Given the description of an element on the screen output the (x, y) to click on. 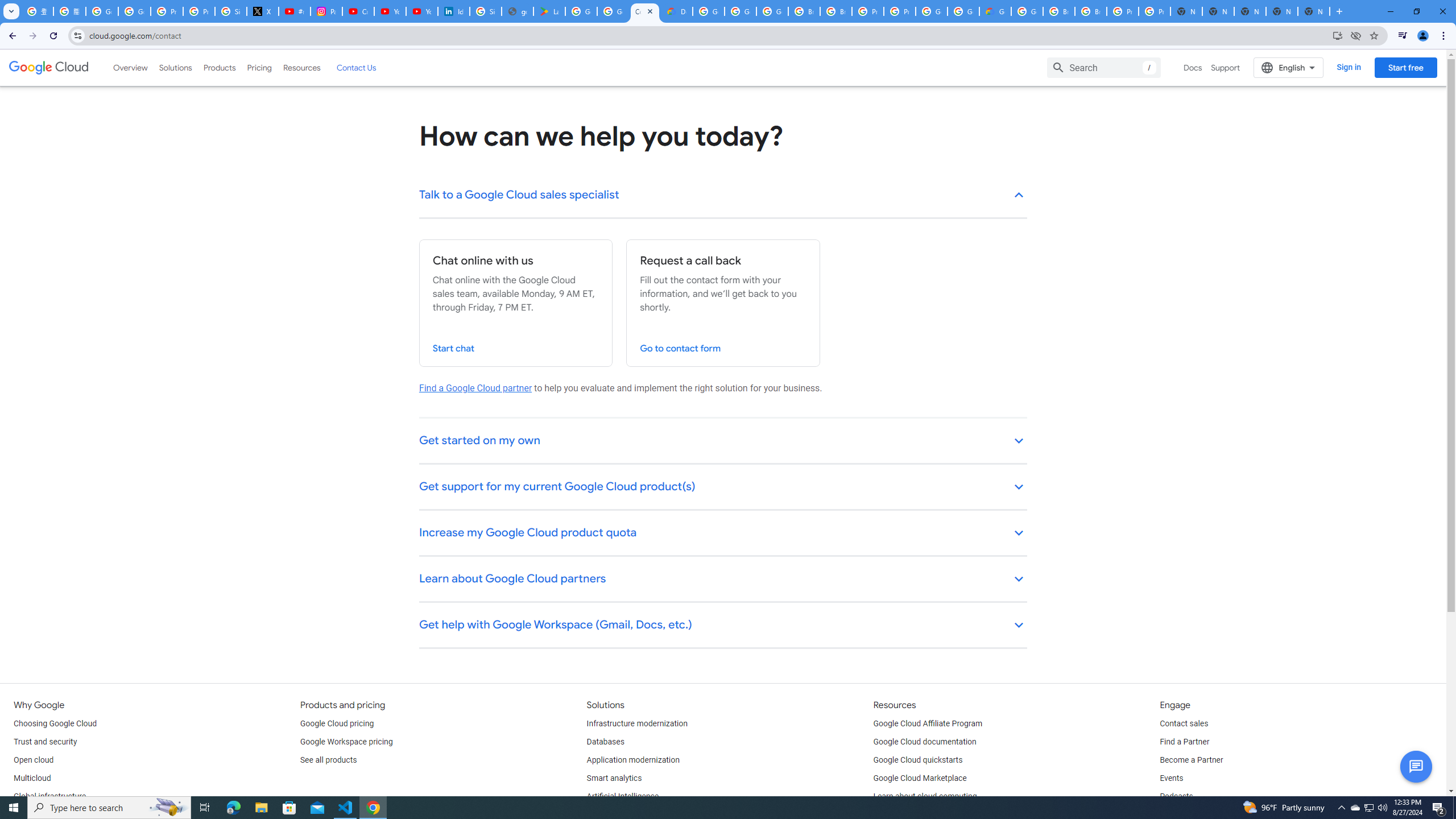
Google Cloud Platform (708, 11)
Identity verification via Persona | LinkedIn Help (453, 11)
English (1288, 67)
Overview (130, 67)
YouTube Culture & Trends - YouTube Top 10, 2021 (421, 11)
Browse Chrome as a guest - Computer - Google Chrome Help (836, 11)
Contact sales (1183, 723)
Infrastructure modernization (637, 723)
Control your music, videos, and more (1402, 35)
Products (218, 67)
Databases (605, 742)
